Given the description of an element on the screen output the (x, y) to click on. 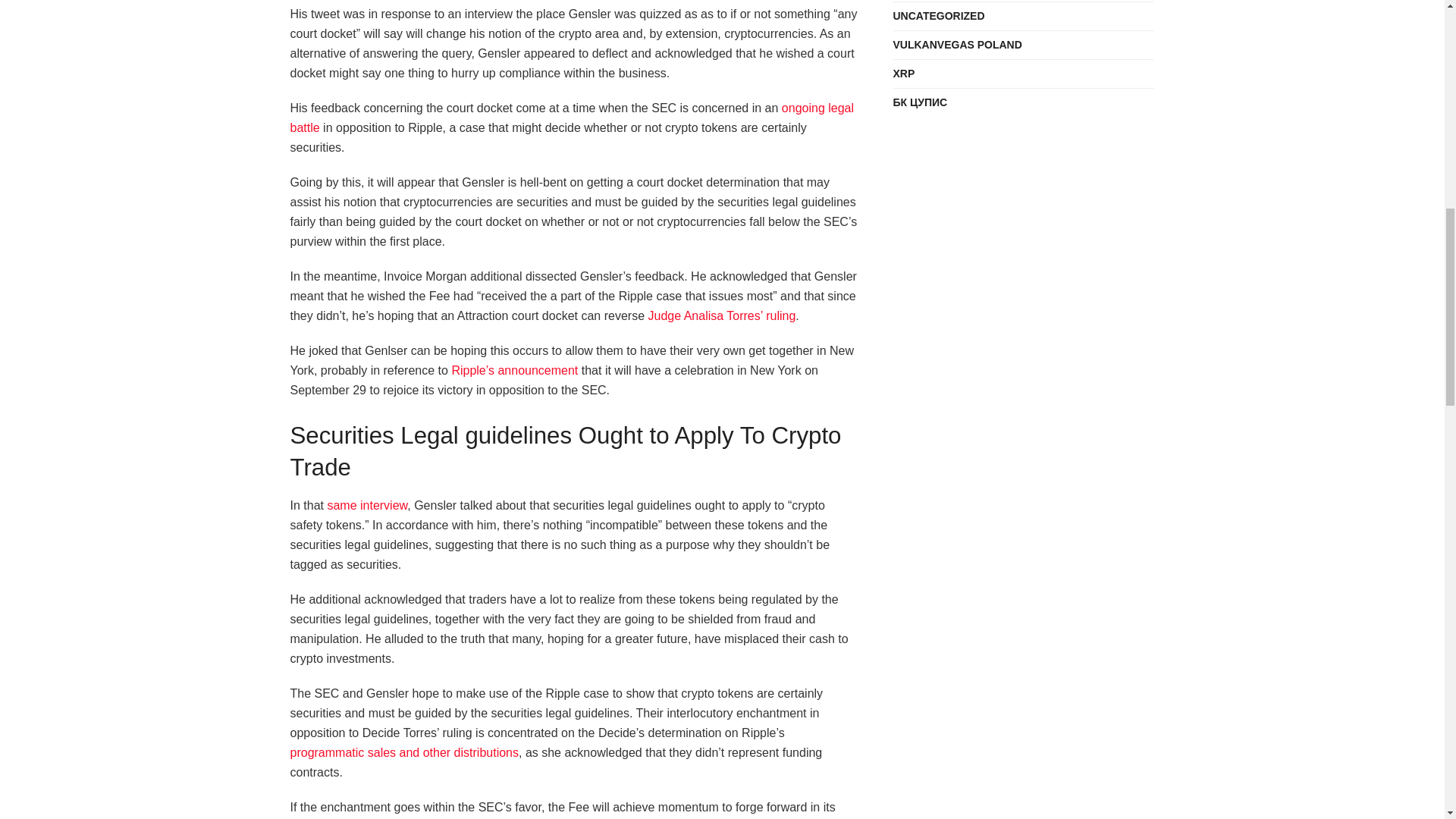
ongoing legal battle (571, 117)
same interview (366, 504)
programmatic sales and other distributions (403, 752)
